Given the description of an element on the screen output the (x, y) to click on. 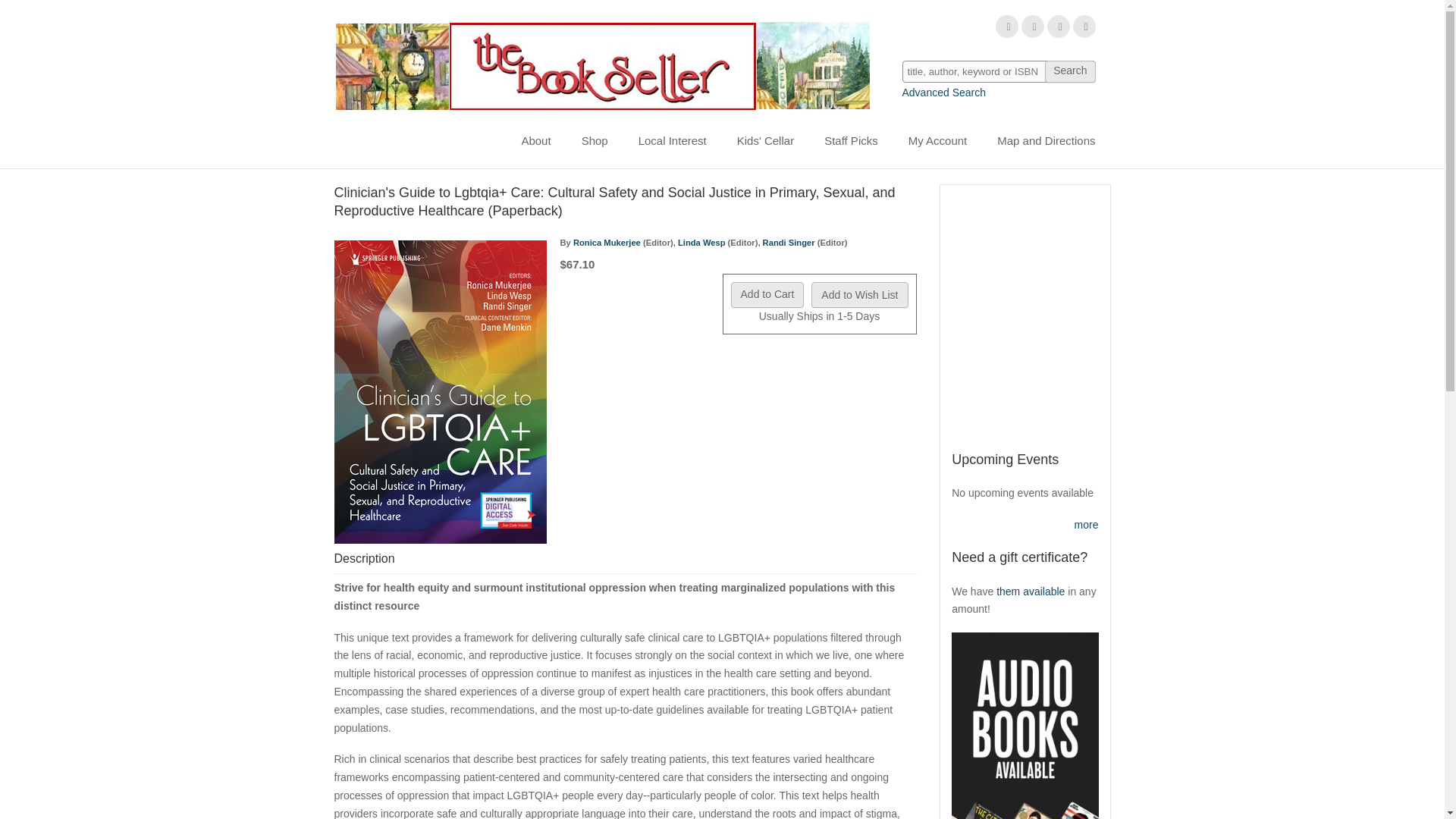
Enter the terms you wish to search for. (999, 71)
Kids' Cellar (765, 140)
Shop (594, 140)
Add to Cart (767, 294)
About (535, 140)
Local Interest (672, 140)
Home (601, 65)
Search (1069, 71)
Search (1069, 71)
Advanced Search (944, 92)
